Given the description of an element on the screen output the (x, y) to click on. 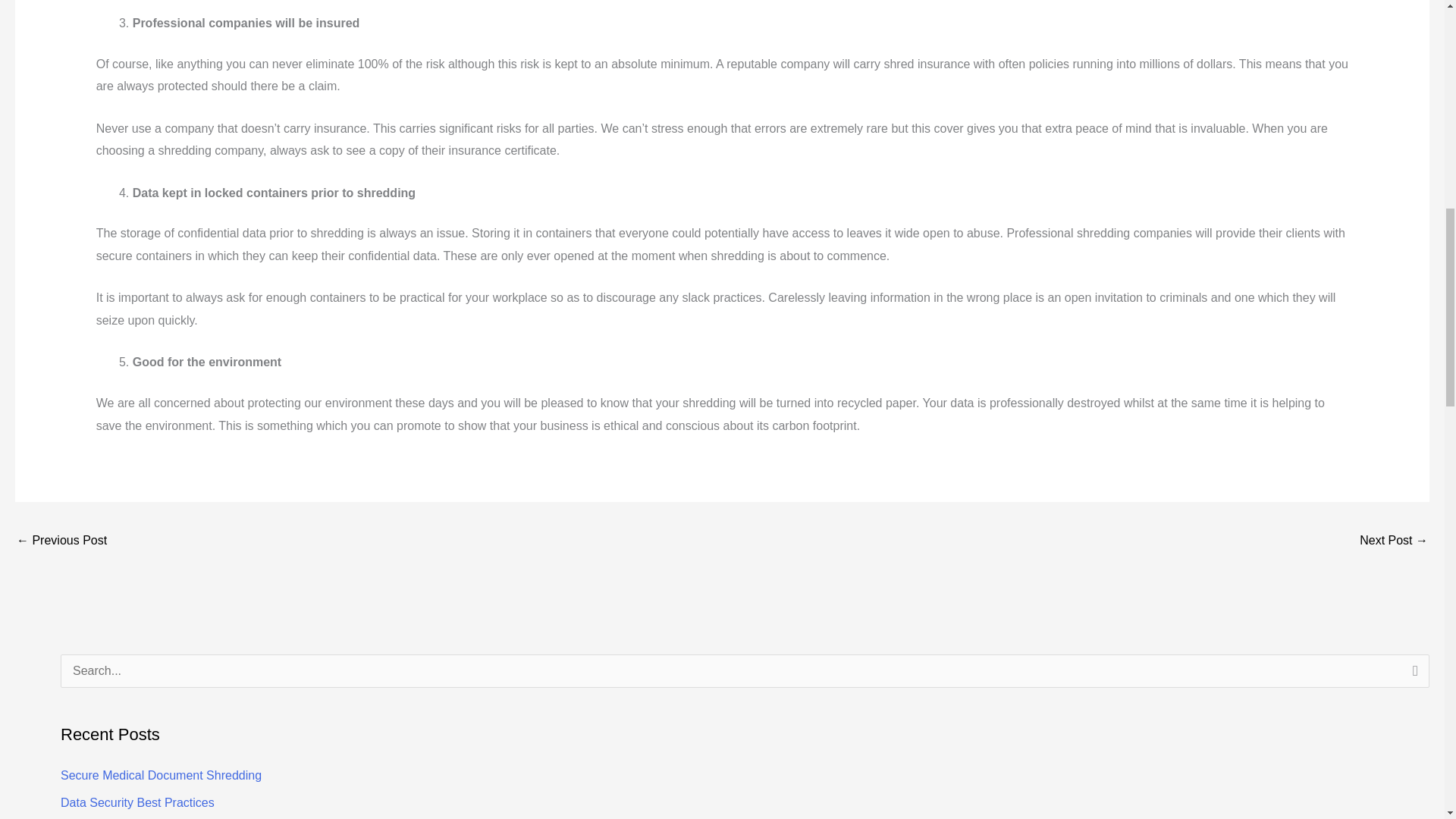
Paper: still going strong in a digital age (61, 541)
Search (1411, 675)
Search (1411, 675)
Search (1411, 675)
Recycling vs shredding: having the best of both worlds (1393, 541)
